Given the description of an element on the screen output the (x, y) to click on. 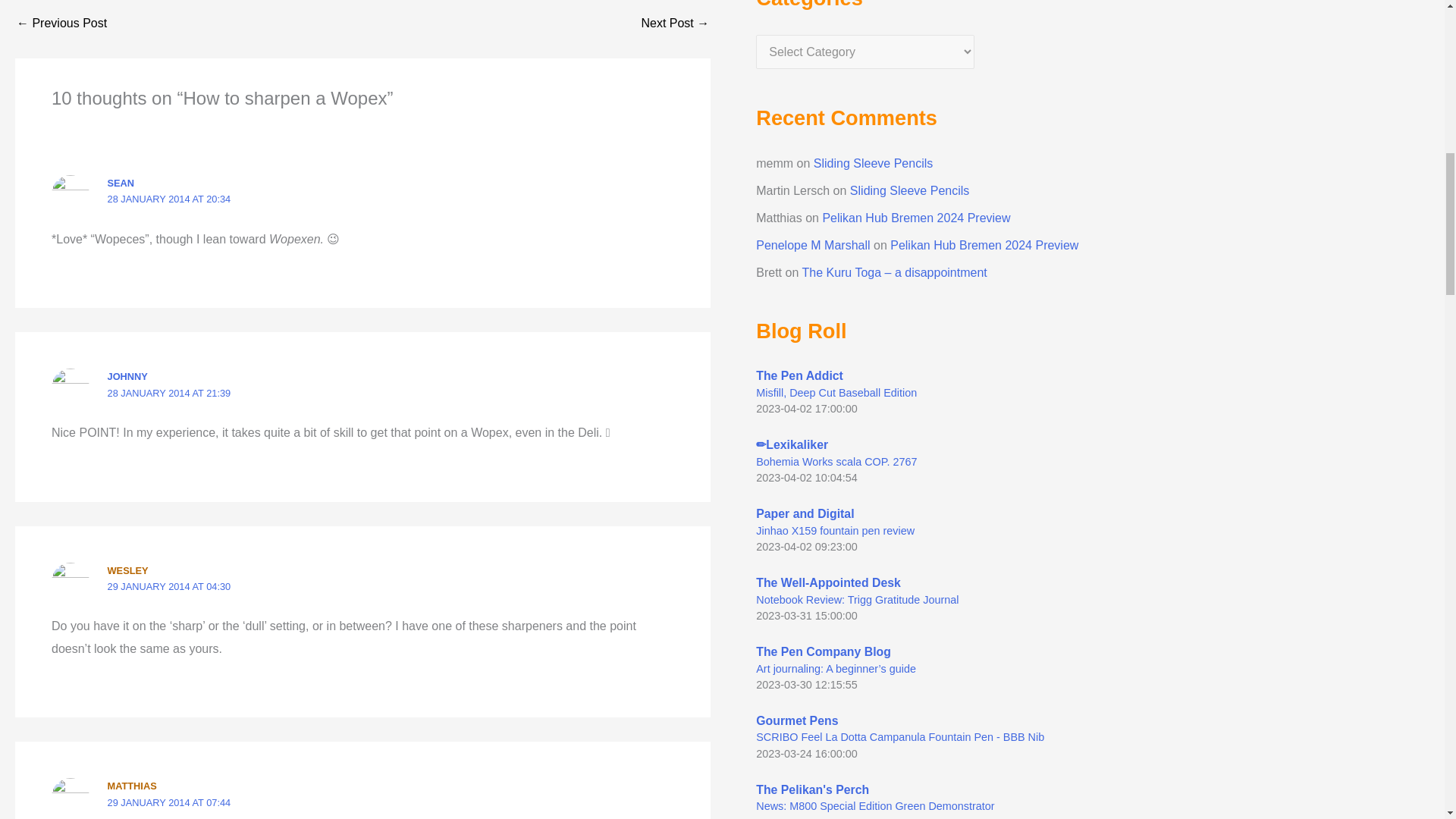
Happy New Year... (674, 23)
Handicraft with Bleistift IV - epic fail  (61, 23)
28 JANUARY 2014 AT 20:34 (169, 198)
28 JANUARY 2014 AT 21:39 (169, 392)
SEAN (121, 183)
29 JANUARY 2014 AT 07:44 (169, 802)
JOHNNY (127, 376)
29 JANUARY 2014 AT 04:30 (169, 586)
